Given the description of an element on the screen output the (x, y) to click on. 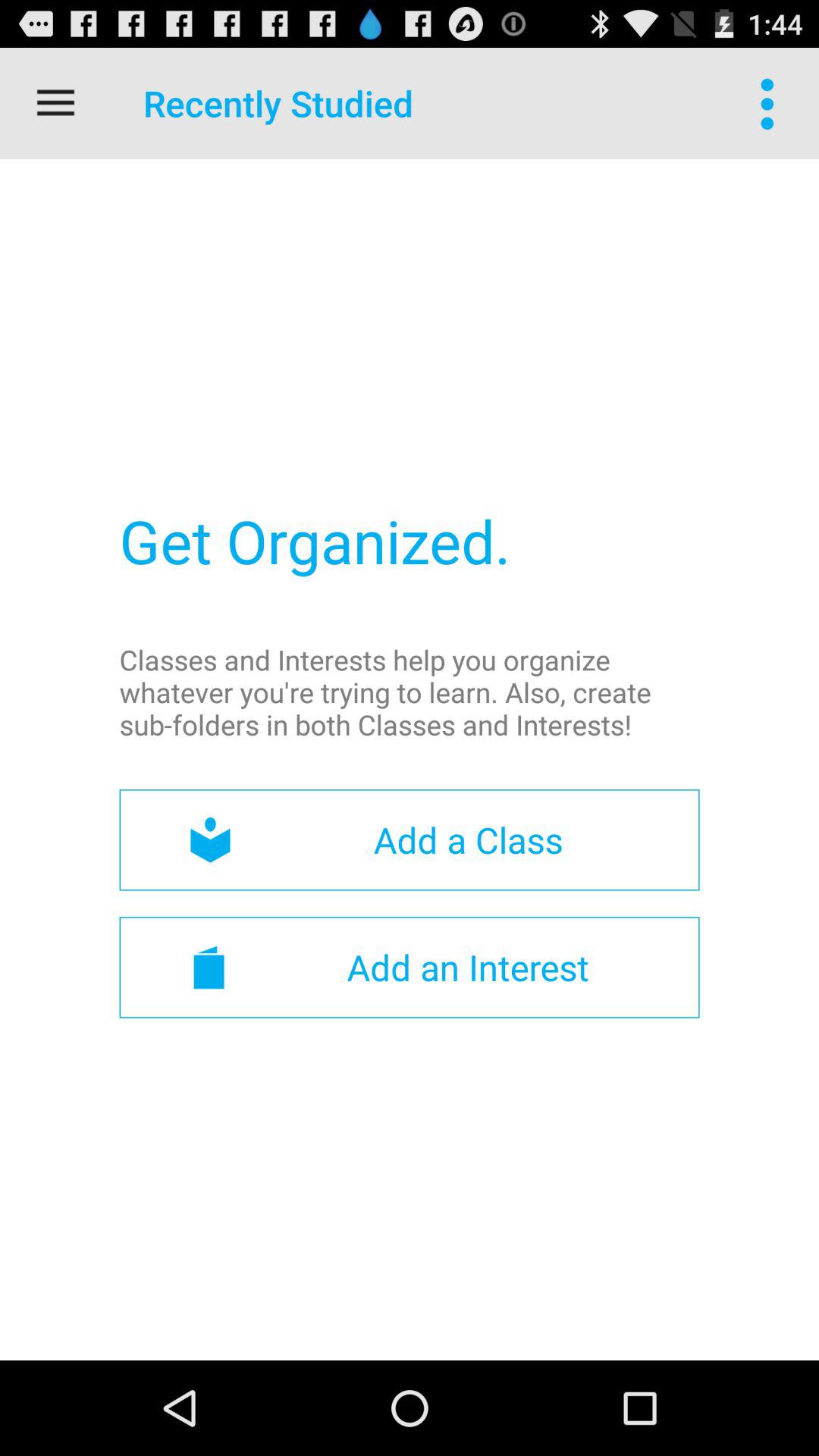
choose the item next to the recently studied icon (55, 103)
